Given the description of an element on the screen output the (x, y) to click on. 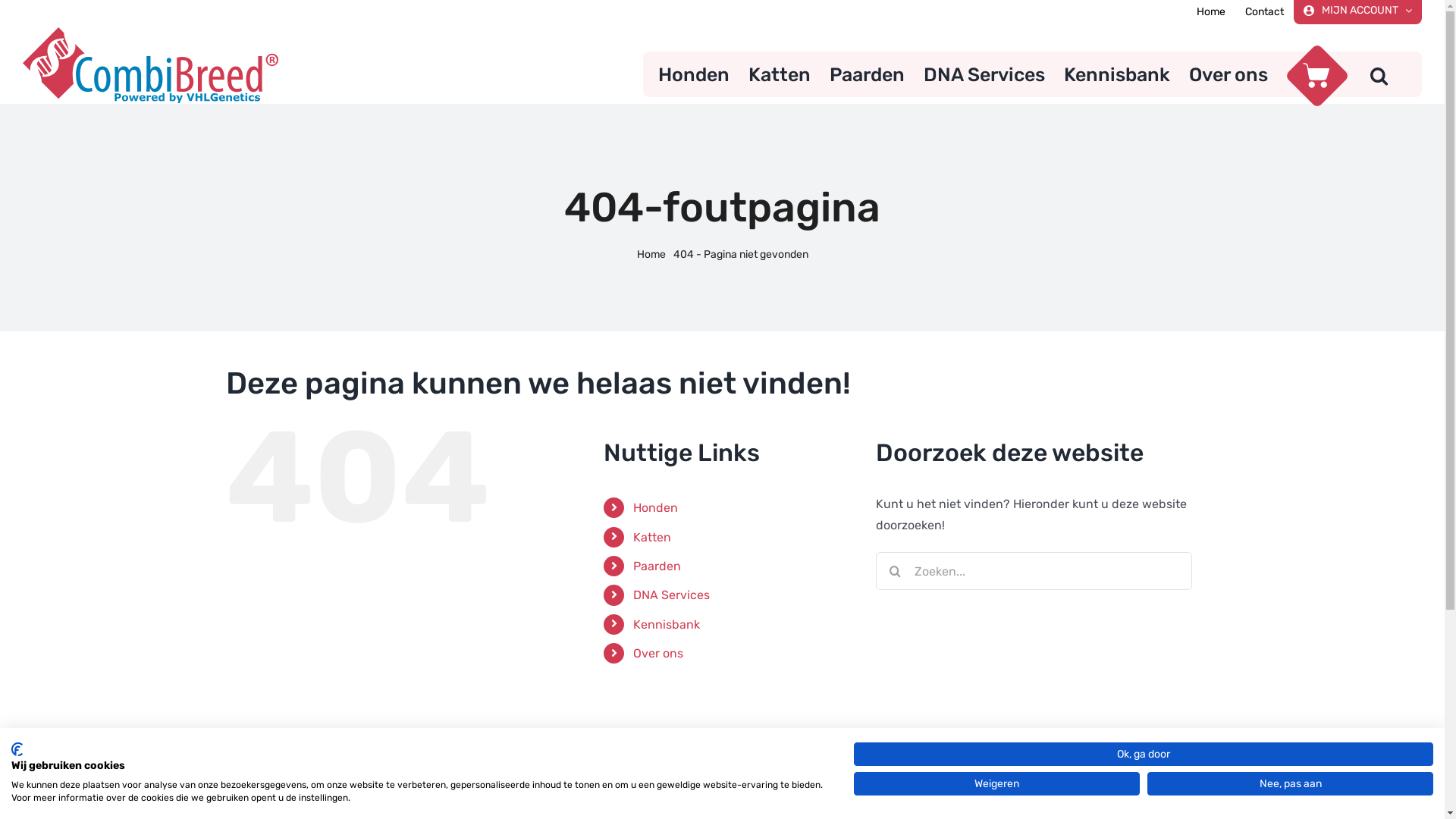
Kennisbank Element type: text (666, 624)
Paarden Element type: text (656, 565)
Home Element type: text (651, 253)
Weigeren Element type: text (996, 783)
Honden Element type: text (693, 74)
Ok, ga door Element type: text (1143, 753)
Kennisbank Element type: text (1116, 74)
Katten Element type: text (779, 74)
Home Element type: text (1210, 12)
Over ons Element type: text (1228, 74)
DNA Services Element type: text (983, 74)
Contact Element type: text (1264, 12)
Paarden Element type: text (866, 74)
Nee, pas aan Element type: text (1290, 783)
Zoeken Element type: hover (1378, 74)
Honden Element type: text (655, 507)
DNA Services Element type: text (671, 594)
Katten Element type: text (652, 537)
Over ons Element type: text (658, 653)
